Given the description of an element on the screen output the (x, y) to click on. 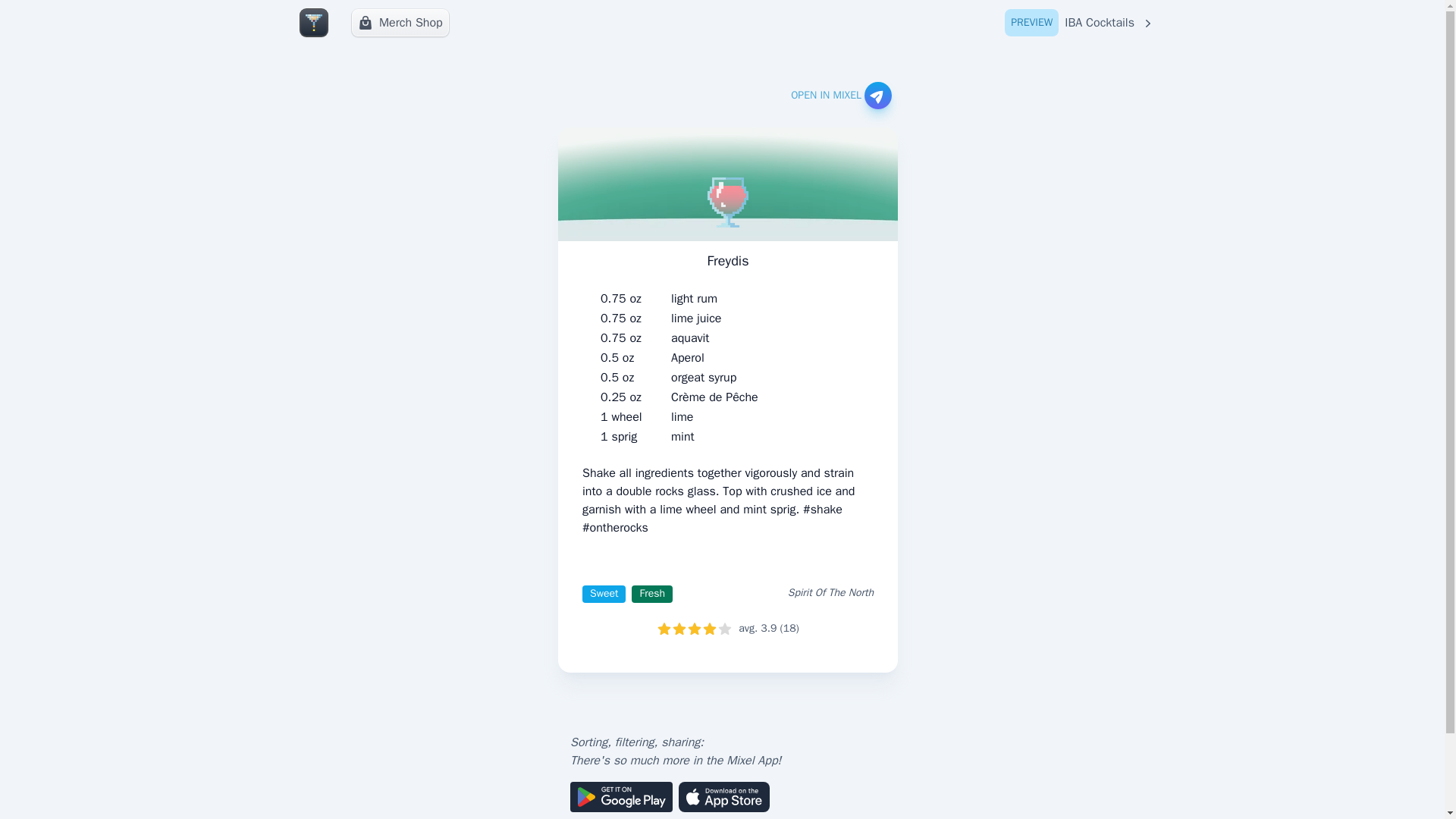
Aperol (687, 357)
lime (682, 416)
Merch Shop (400, 22)
lime juice (695, 318)
light rum (694, 298)
orgeat syrup (703, 377)
aquavit (690, 338)
mint (1079, 22)
OPEN IN MIXEL (682, 436)
